Given the description of an element on the screen output the (x, y) to click on. 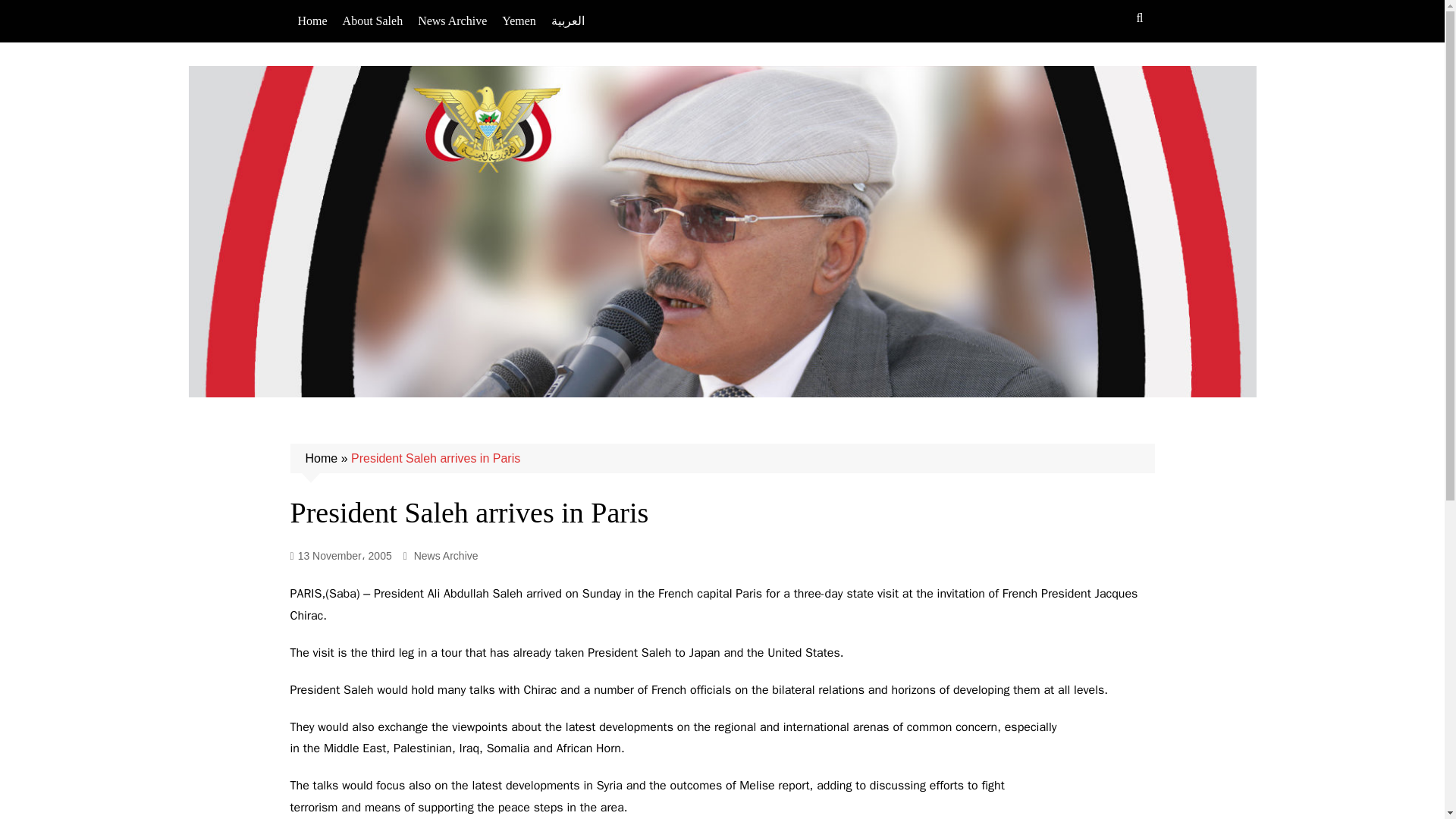
News Archive (446, 555)
Yemen (519, 21)
Home (311, 21)
News Archive (452, 21)
Home (320, 458)
About Saleh (372, 21)
